Given the description of an element on the screen output the (x, y) to click on. 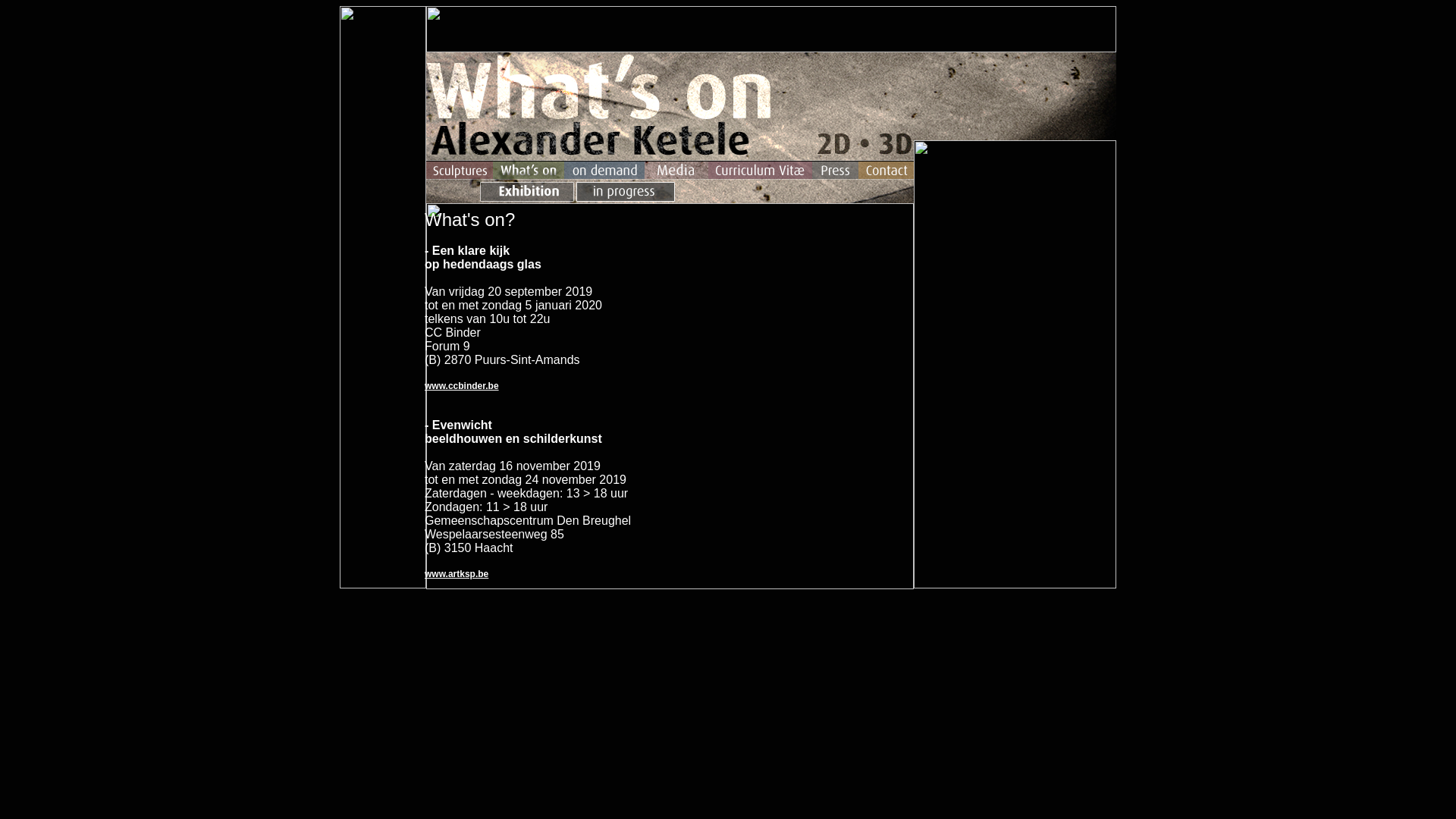
www.artksp.be Element type: text (456, 573)
www.ccbinder.be Element type: text (461, 385)
